Given the description of an element on the screen output the (x, y) to click on. 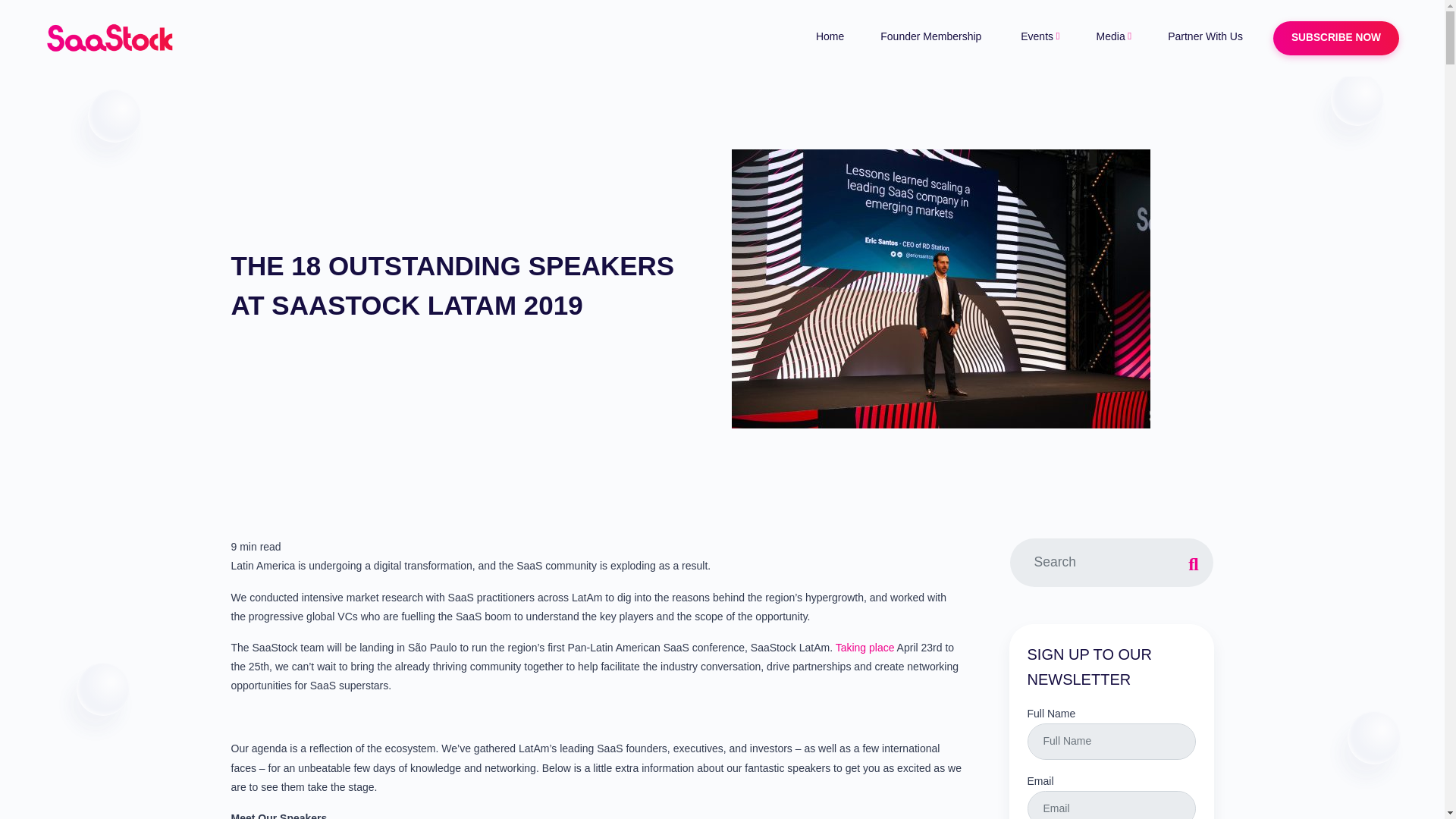
Home (829, 36)
Media (1114, 36)
Partner With Us (1205, 36)
Events (1040, 36)
Founder Membership  (932, 36)
Taking place (865, 647)
SUBSCRIBE NOW (1335, 38)
